Given the description of an element on the screen output the (x, y) to click on. 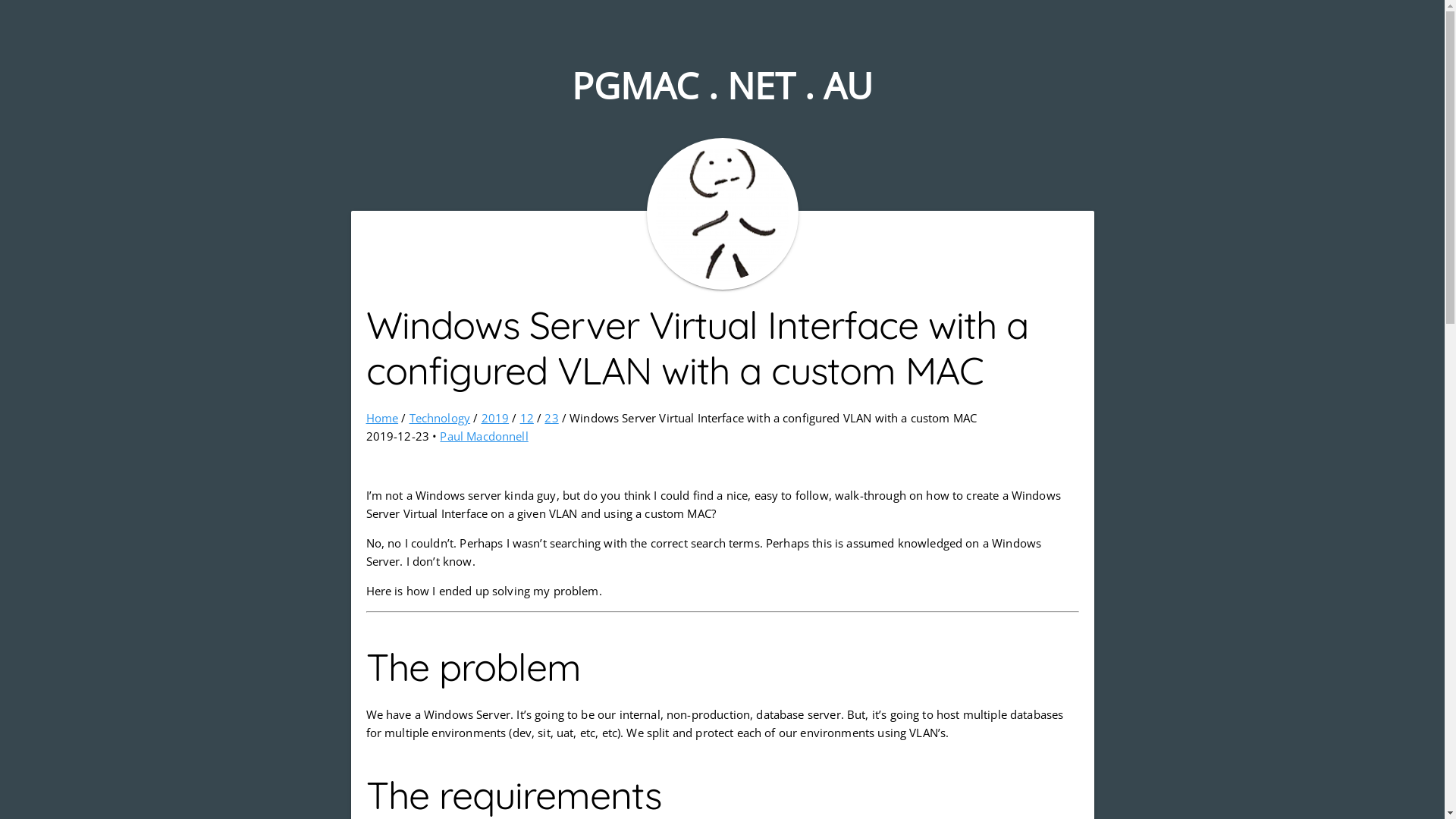
2019 Element type: text (495, 417)
Paul Macdonnell Element type: text (483, 435)
Home Element type: text (381, 417)
12 Element type: text (526, 417)
PGMAC . NET . AU Element type: text (721, 84)
23 Element type: text (551, 417)
Technology Element type: text (439, 417)
